Given the description of an element on the screen output the (x, y) to click on. 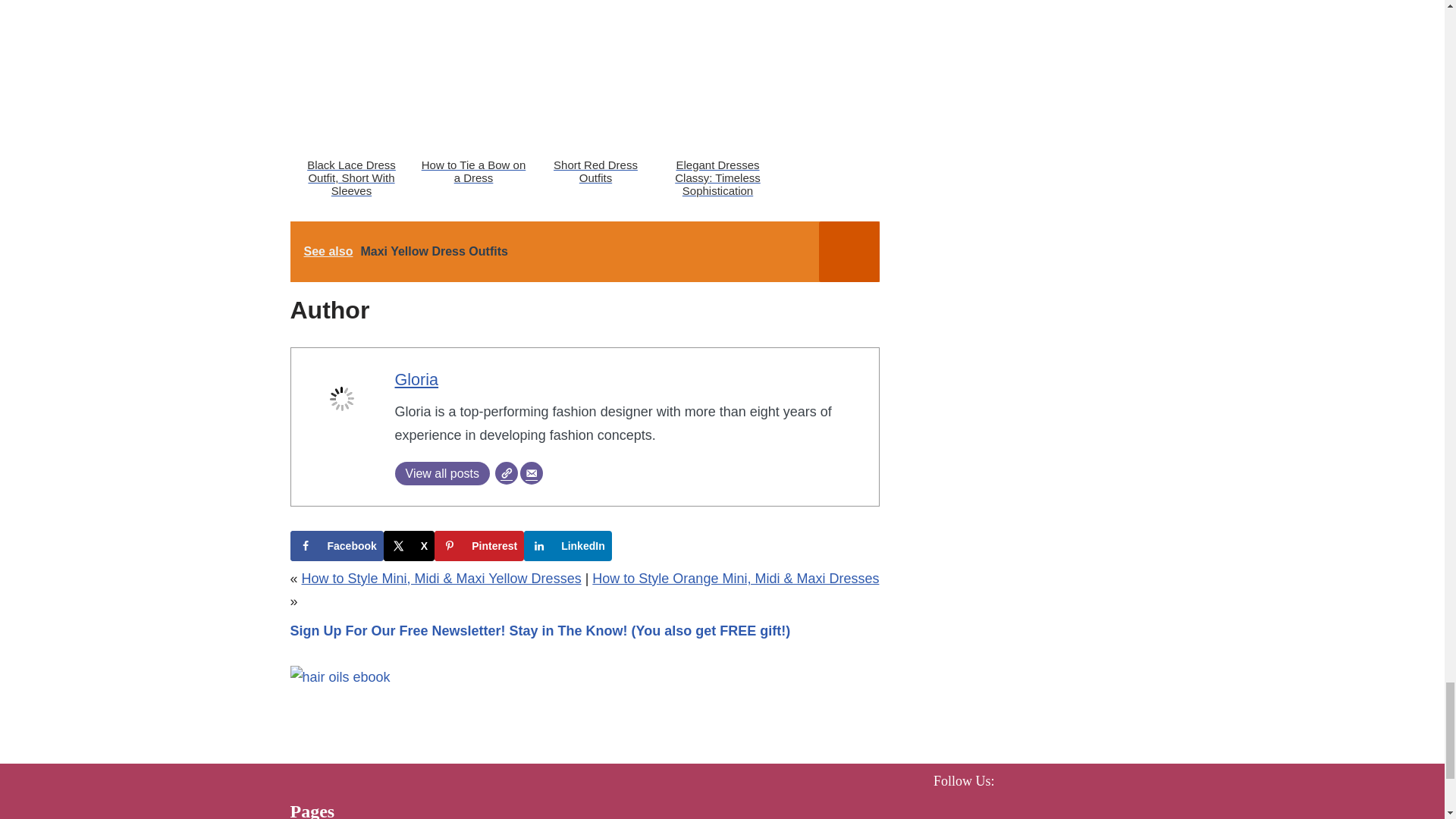
View all posts (441, 473)
Save to Pinterest (478, 545)
Gloria (416, 379)
Share on LinkedIn (567, 545)
Share on X (408, 545)
Share on Facebook (335, 545)
